Given the description of an element on the screen output the (x, y) to click on. 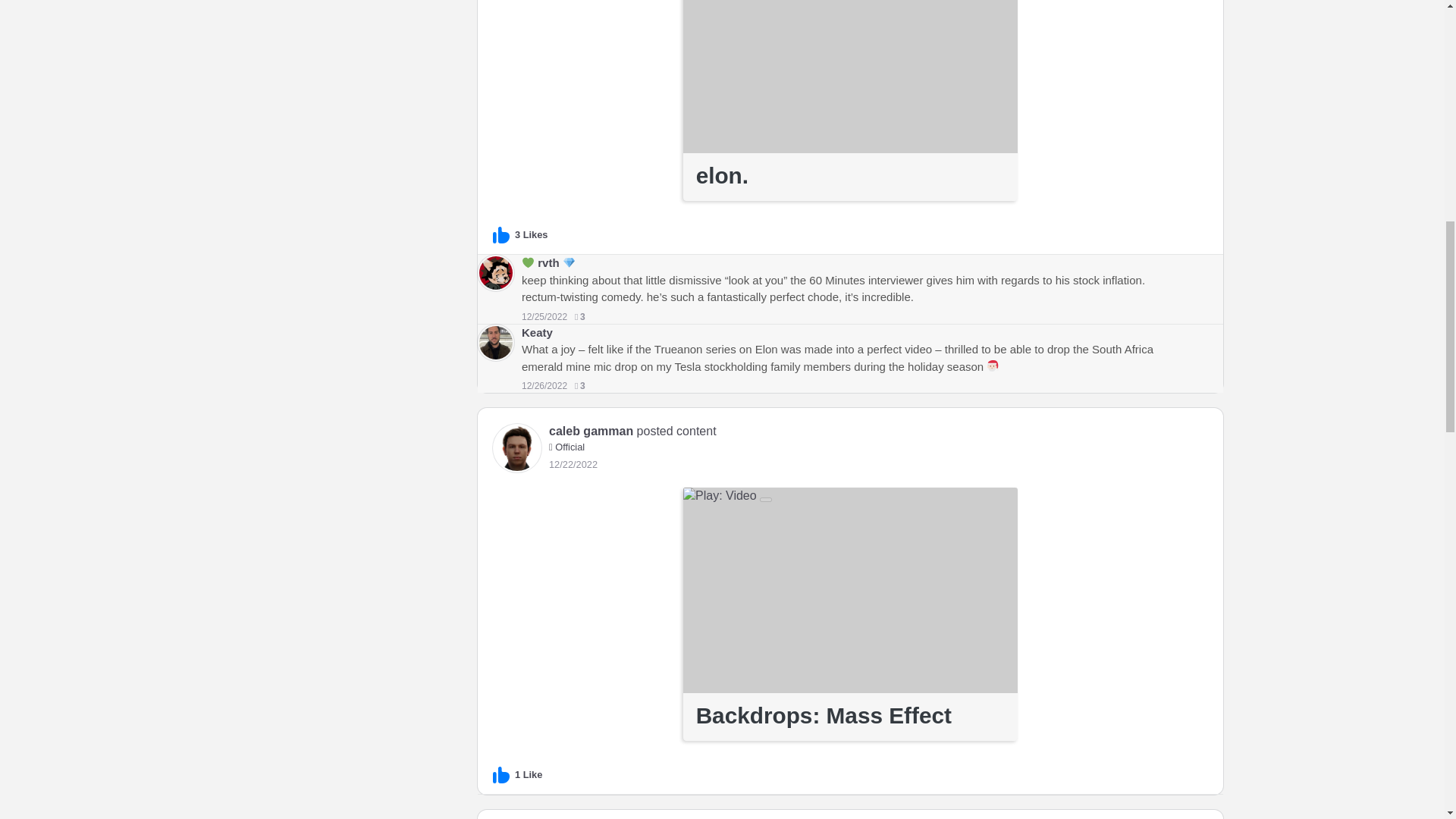
December 24, 2022 3:35 pm (544, 317)
rvth (548, 262)
December 26, 2022 4:17 am (544, 385)
caleb gamman (590, 431)
Keaty (537, 332)
3 Likes (520, 234)
December 21, 2022 12:03 pm (572, 464)
elon. (849, 175)
